Given the description of an element on the screen output the (x, y) to click on. 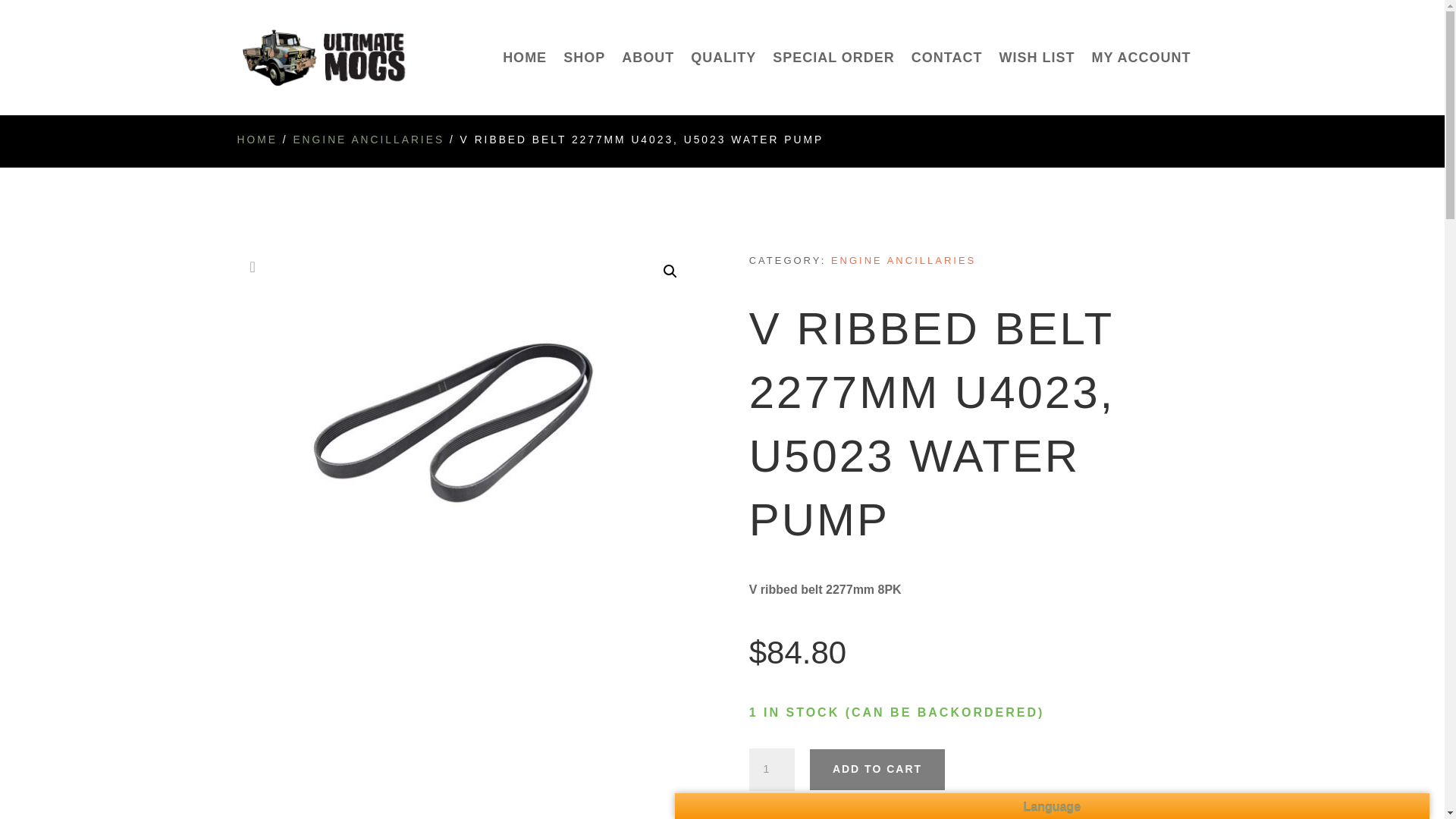
CONTACT (946, 83)
WISH LIST (1036, 83)
MY ACCOUNT (1141, 83)
1 (771, 769)
ENGINE ANCILLARIES (903, 260)
ENGINE ANCILLARIES (368, 139)
SPECIAL ORDER (834, 83)
HOME (255, 139)
QUALITY (722, 83)
ADD TO CART (876, 769)
